Given the description of an element on the screen output the (x, y) to click on. 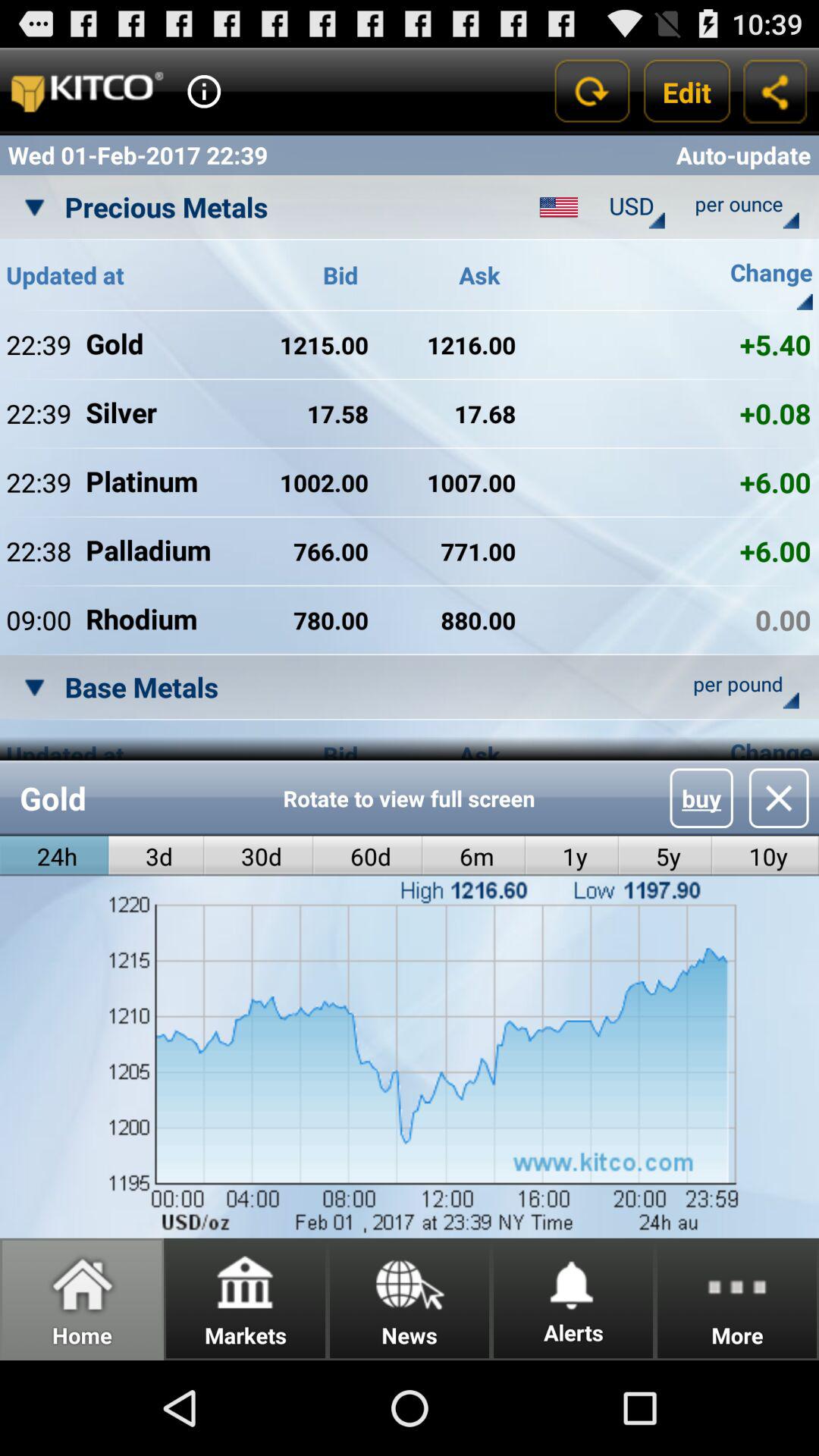
share pricing chart (775, 91)
